Given the description of an element on the screen output the (x, y) to click on. 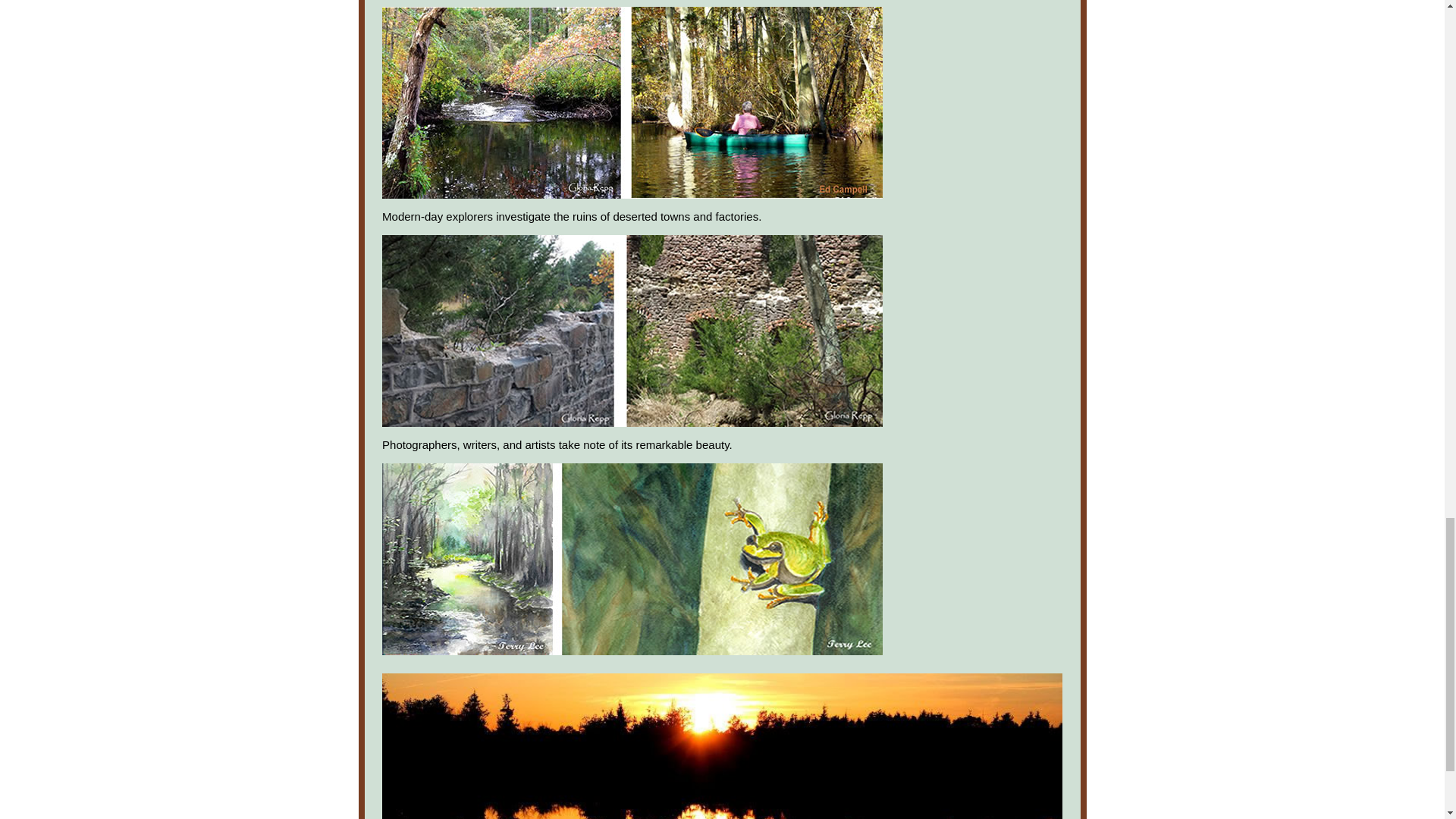
canoeists-kayakers (631, 102)
beauty (631, 559)
ruins (631, 330)
